Given the description of an element on the screen output the (x, y) to click on. 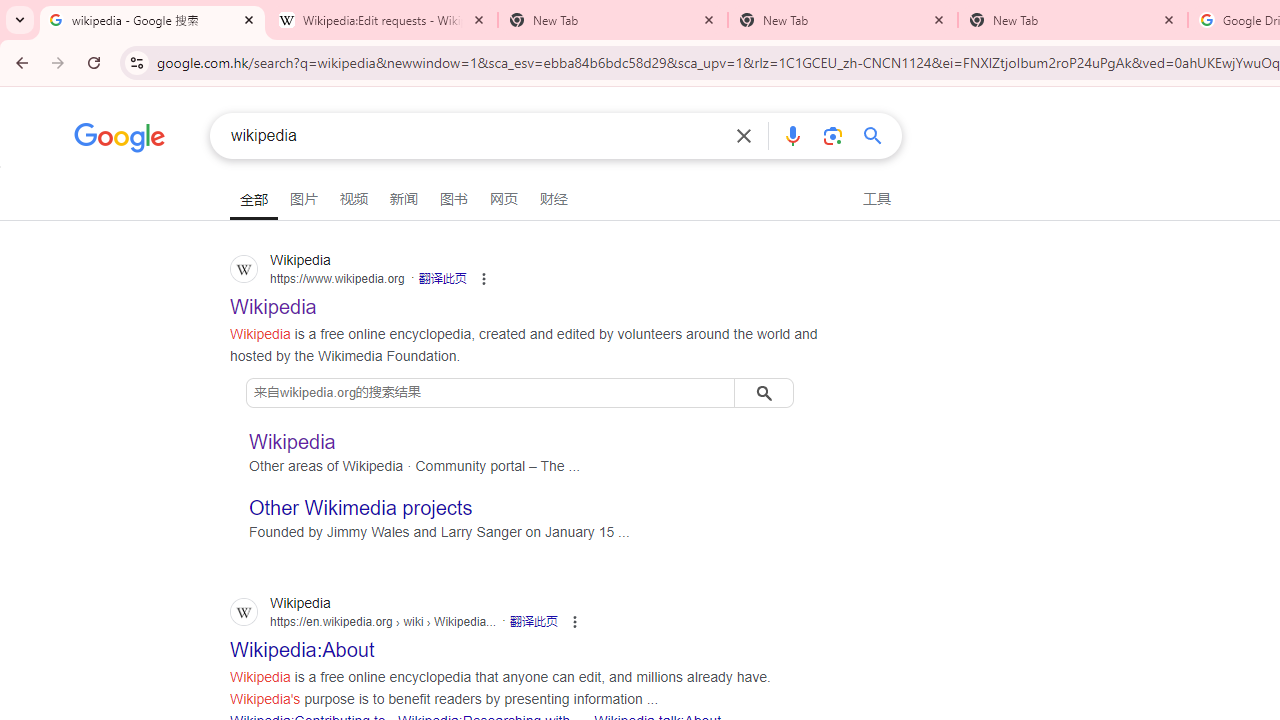
Wikipedia (292, 440)
